Given the description of an element on the screen output the (x, y) to click on. 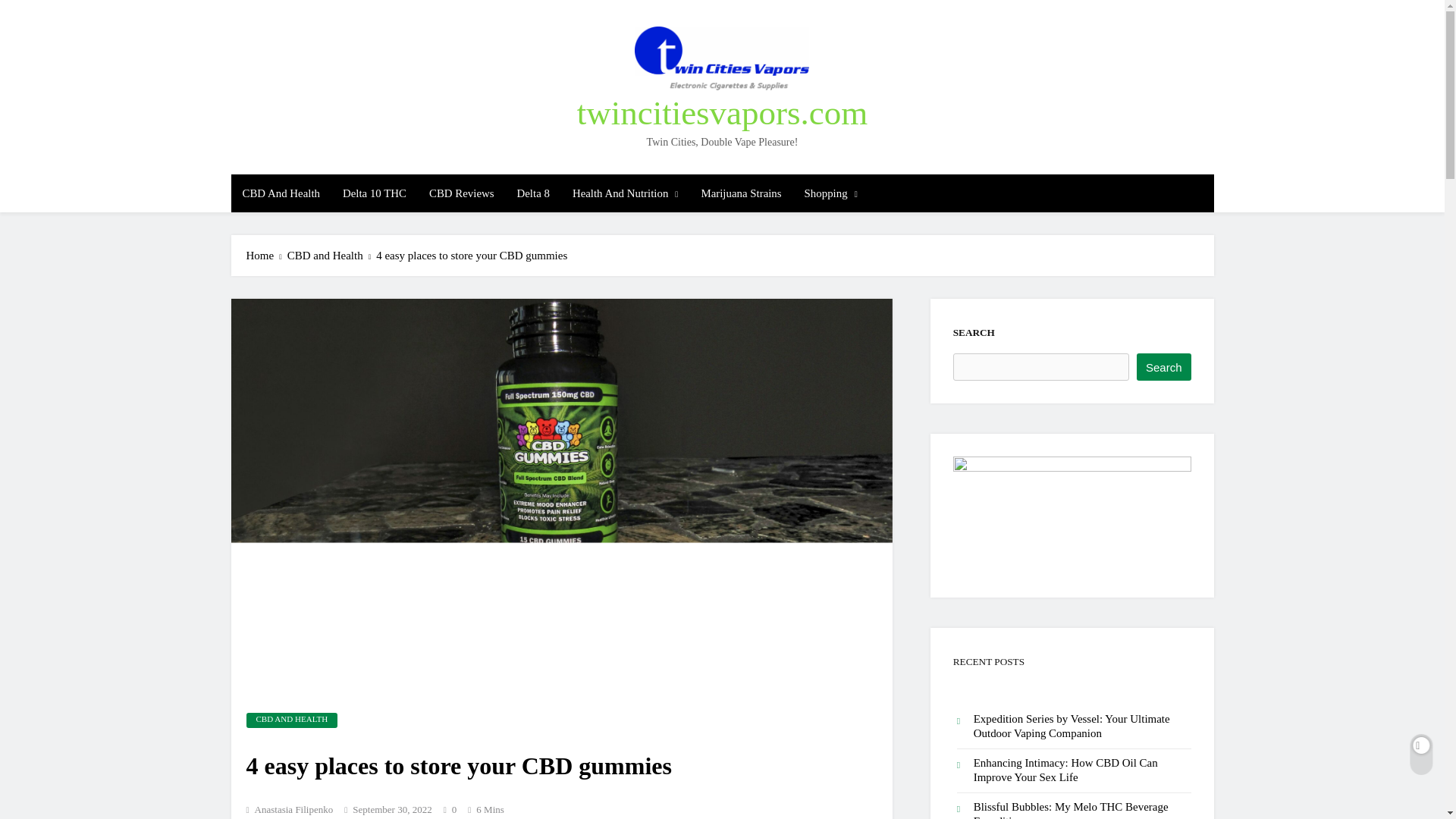
CBD Reviews (461, 193)
Anastasia Filipenko (289, 809)
Shopping (831, 193)
CBD AND HEALTH (291, 720)
Delta 8 (532, 193)
Health And Nutrition (625, 193)
CBD And Health (280, 193)
CBD and Health (331, 255)
Delta 10 THC (374, 193)
twincitiesvapors.com (721, 112)
